Given the description of an element on the screen output the (x, y) to click on. 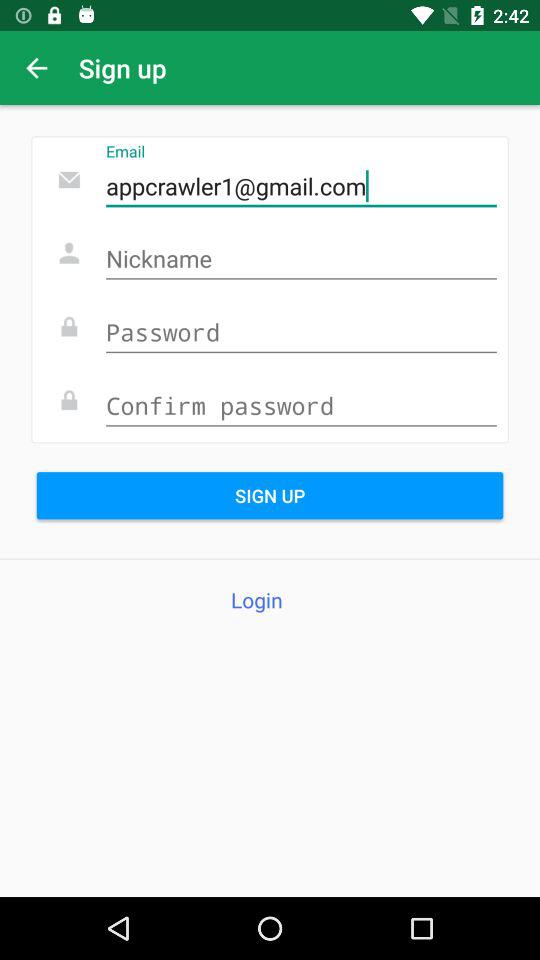
text area (301, 259)
